Given the description of an element on the screen output the (x, y) to click on. 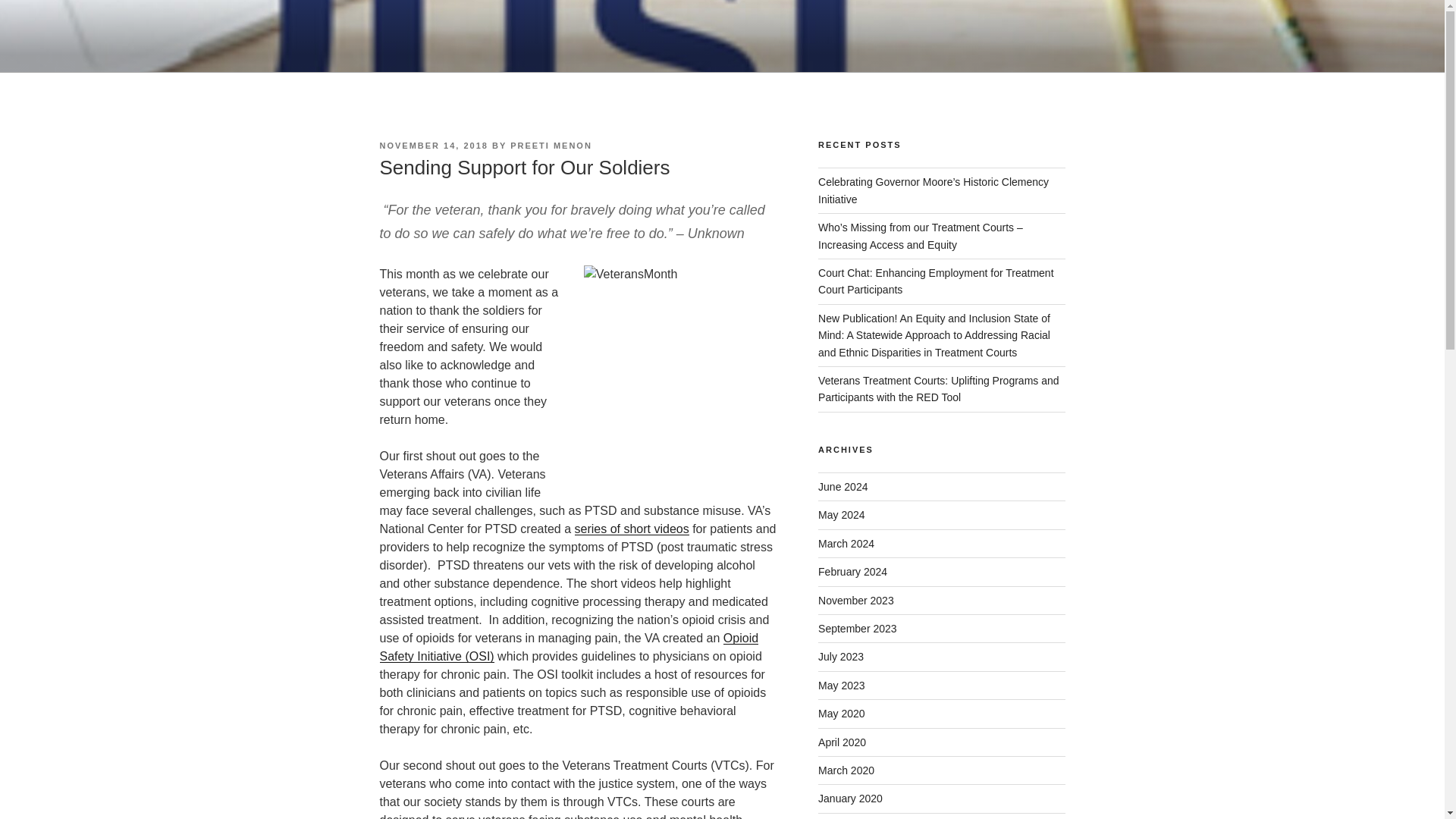
May 2024 (841, 514)
November 2023 (855, 600)
April 2020 (842, 742)
NOVEMBER 14, 2018 (432, 144)
July 2023 (840, 656)
May 2020 (841, 713)
series of short videos (631, 528)
PREETI MENON (551, 144)
